Given the description of an element on the screen output the (x, y) to click on. 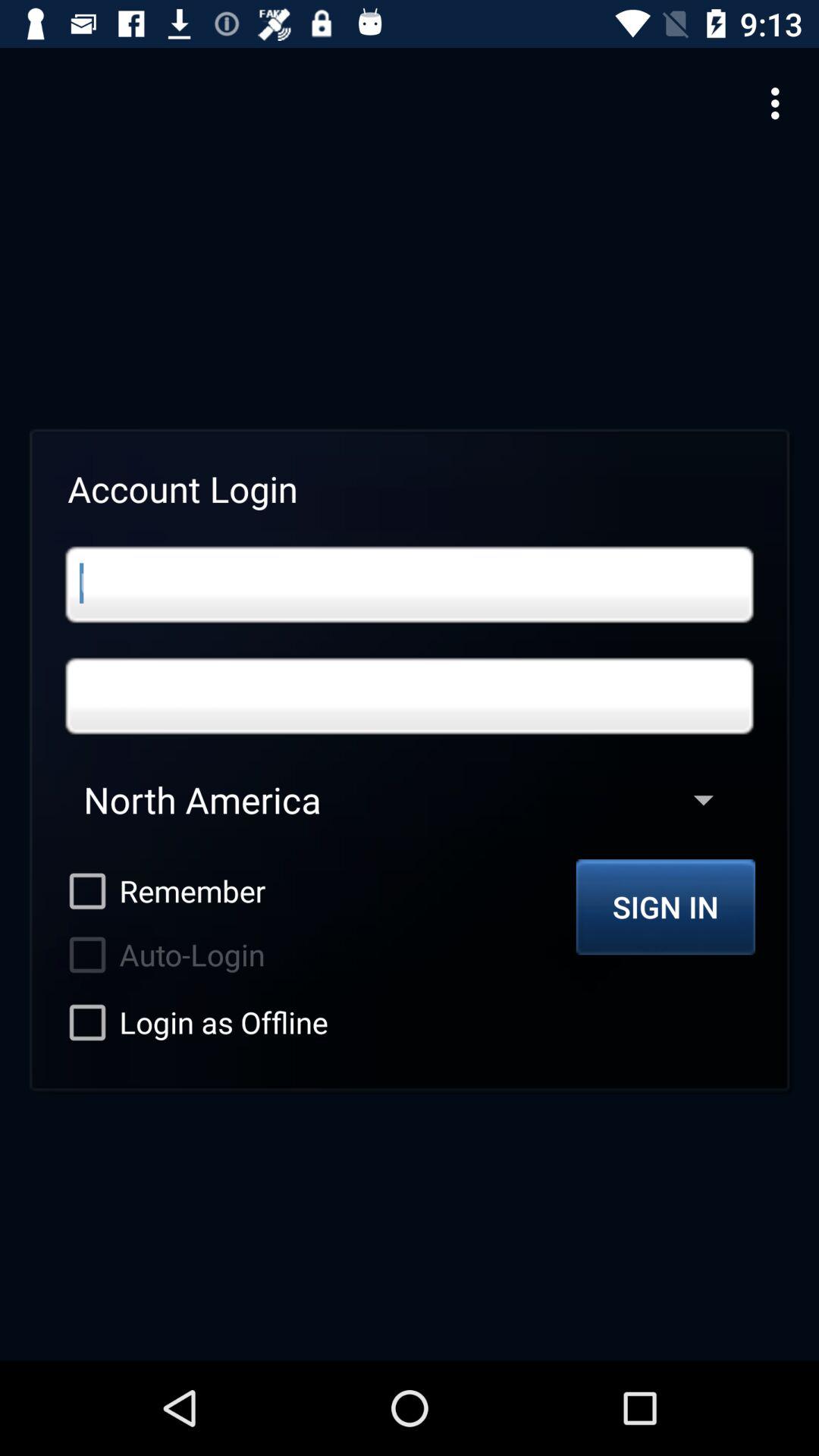
password input on a form (409, 695)
